Given the description of an element on the screen output the (x, y) to click on. 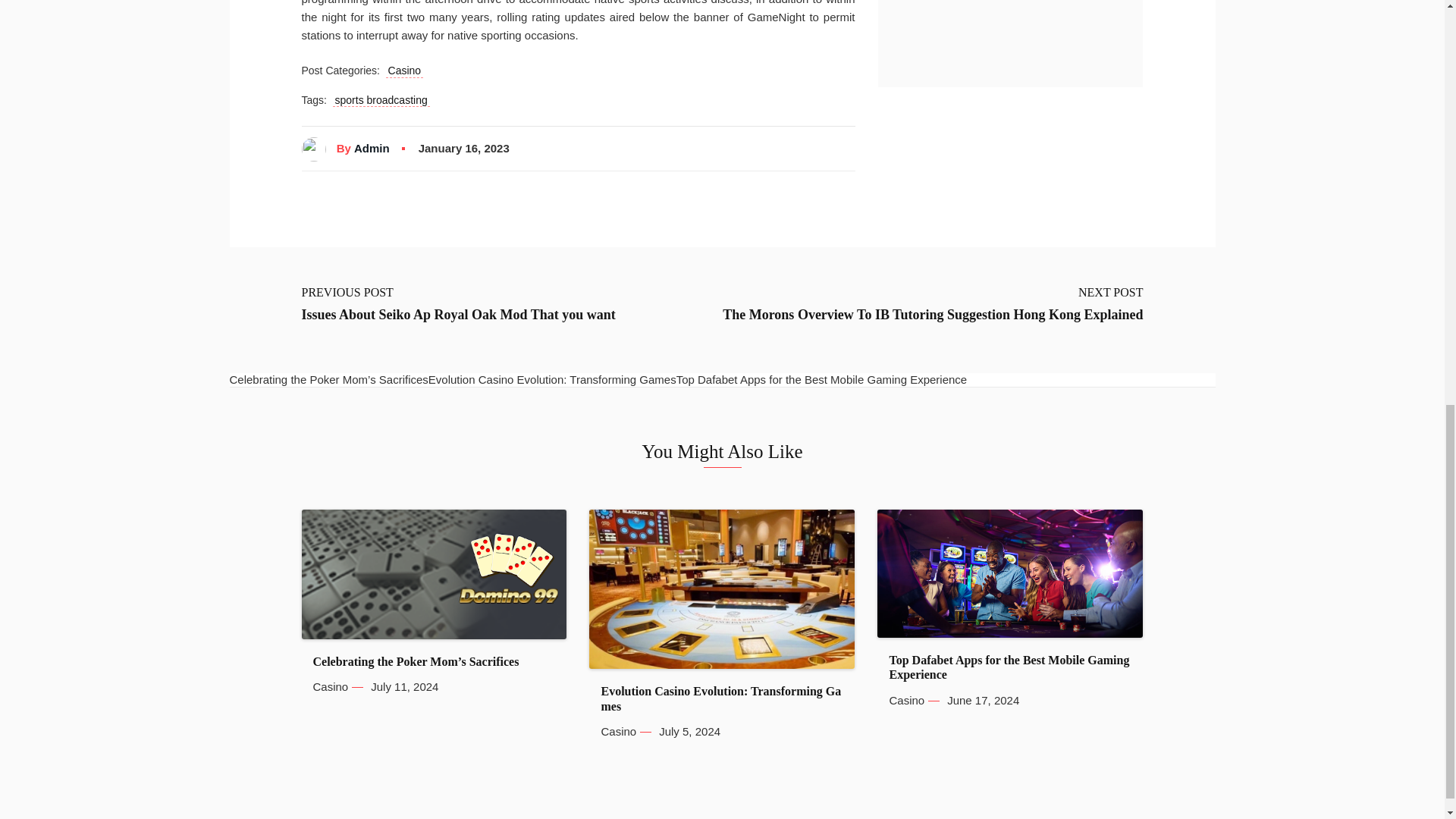
Admin (371, 148)
Issues About Seiko Ap Royal Oak Mod That you want (458, 315)
July 11, 2024 (404, 686)
sports broadcasting (381, 100)
Casino (404, 70)
Casino (330, 686)
